Given the description of an element on the screen output the (x, y) to click on. 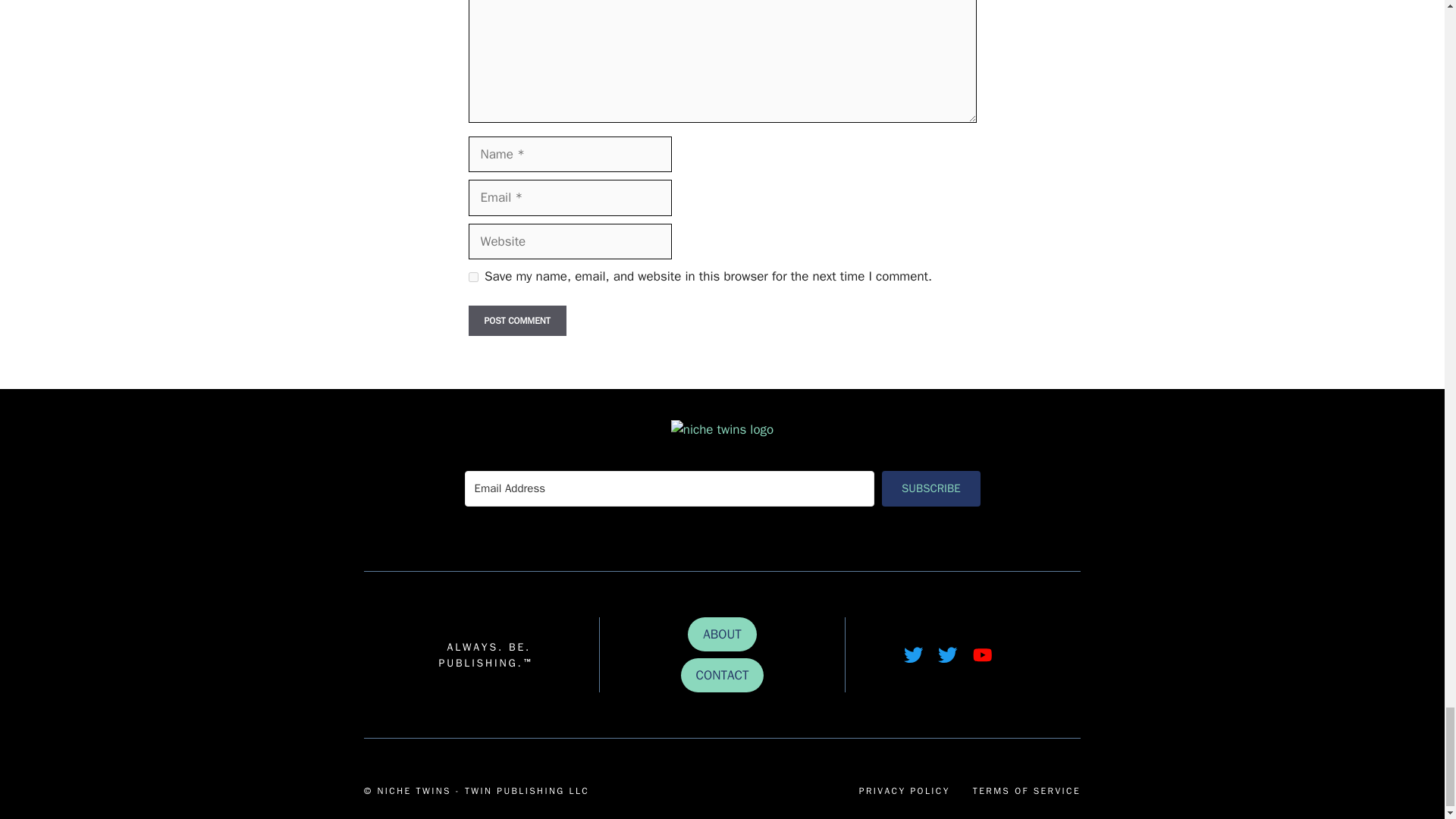
SUBSCRIBE (930, 488)
Post Comment (517, 320)
ABOUT (722, 634)
CONTACT (722, 675)
yes (473, 276)
Post Comment (517, 320)
